Given the description of an element on the screen output the (x, y) to click on. 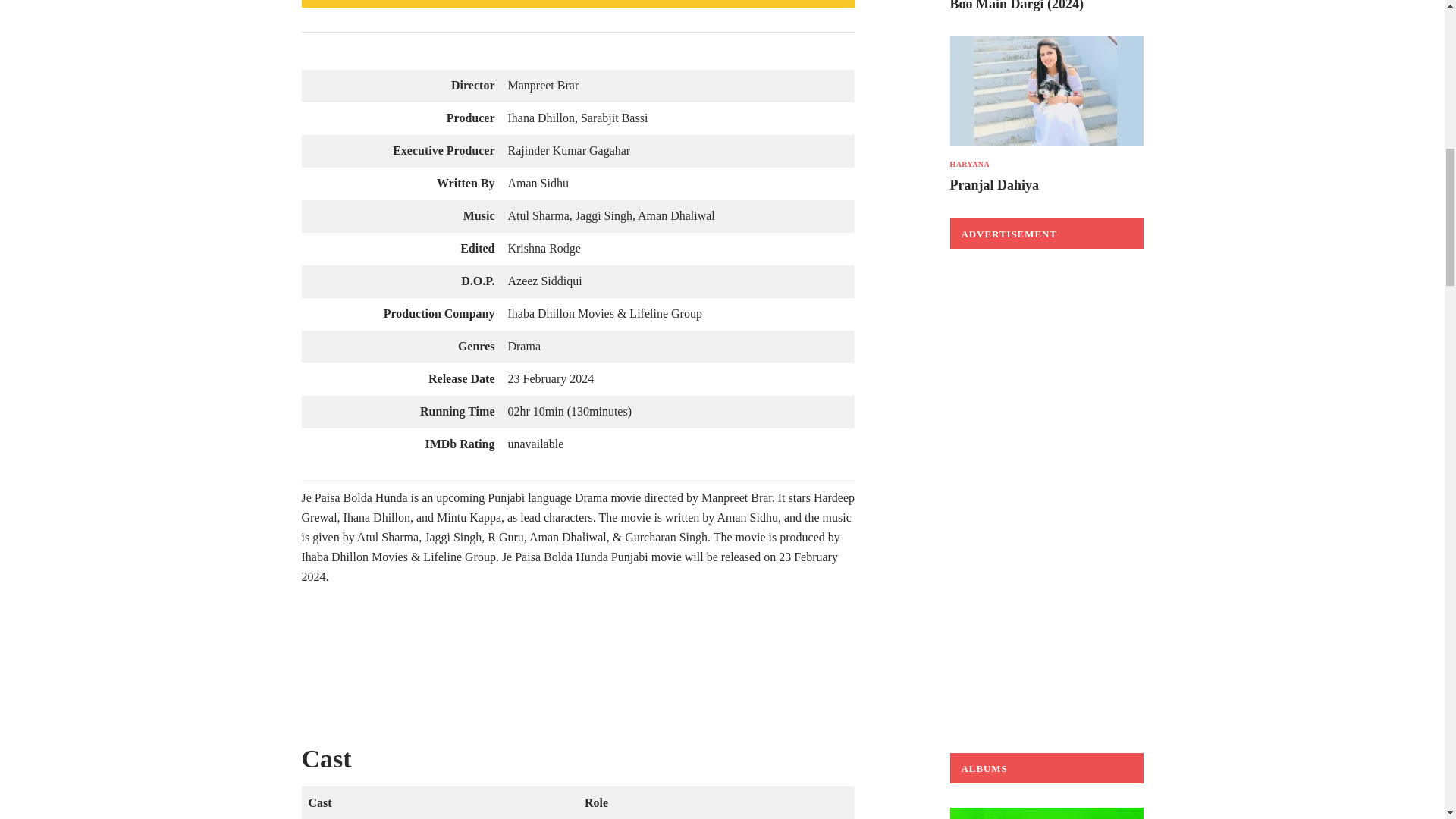
Advertisement (578, 671)
